Given the description of an element on the screen output the (x, y) to click on. 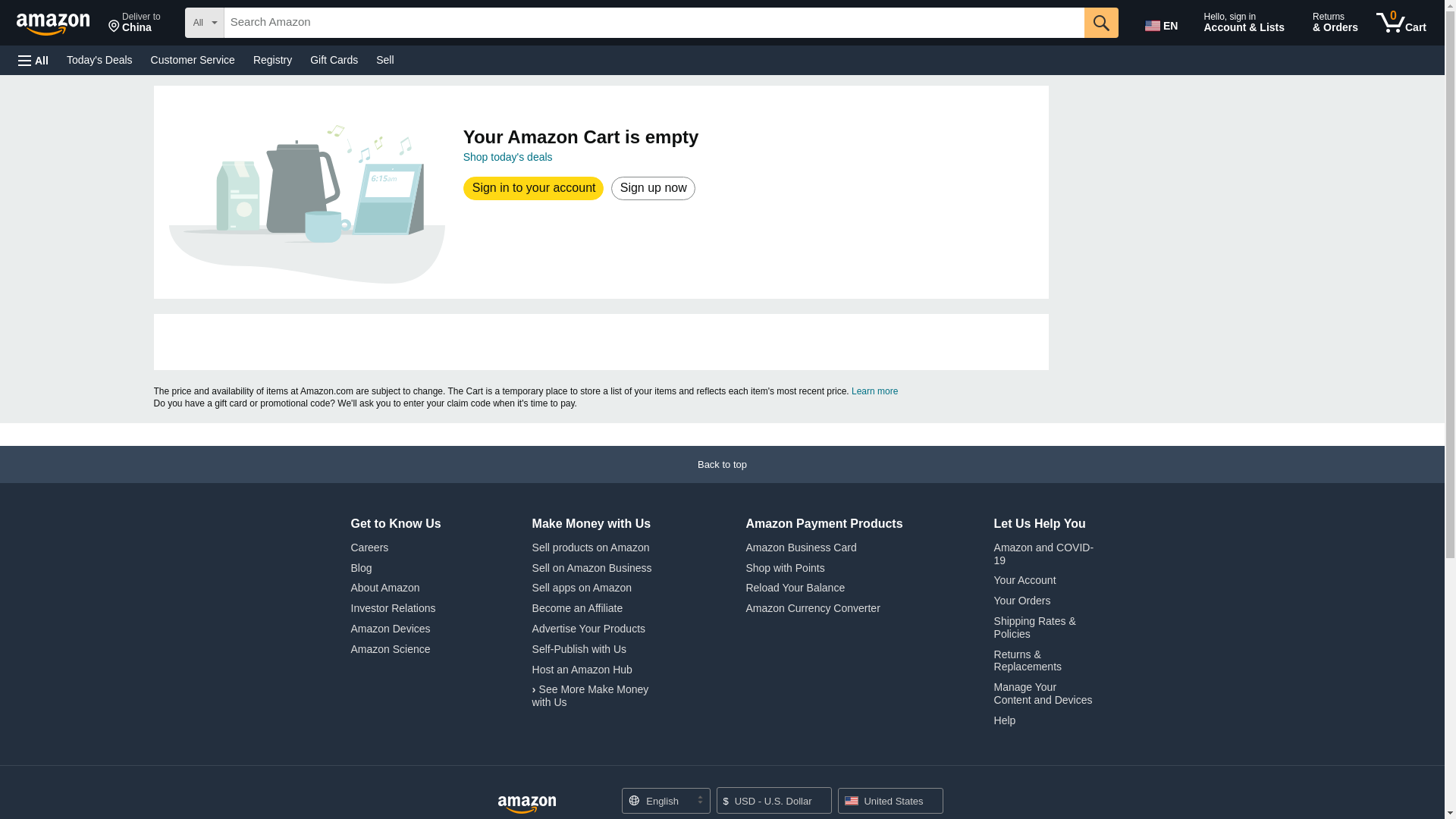
Today's Deals (99, 59)
Host an Amazon Hub (581, 669)
All (1401, 22)
EN (33, 60)
Self-Publish with Us (1163, 22)
Sign up now (579, 648)
Skip to main content (652, 188)
About Amazon (60, 21)
